Given the description of an element on the screen output the (x, y) to click on. 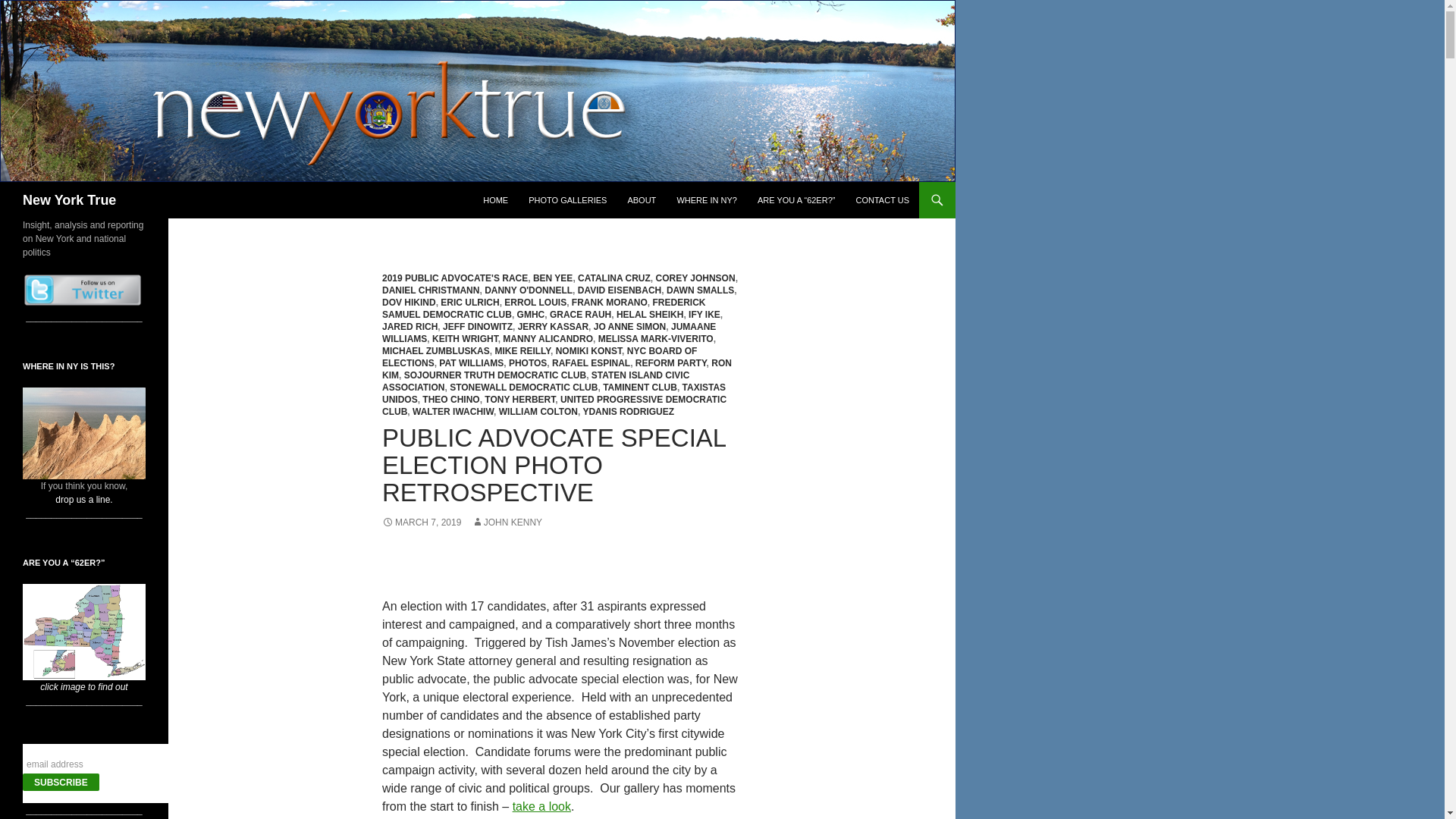
MIKE REILLY (522, 350)
FRANK MORANO (609, 302)
DAVID EISENBACH (619, 290)
2019 PUBLIC ADVOCATE'S RACE (454, 277)
PHOTO GALLERIES (567, 199)
DANNY O'DONNELL (528, 290)
NOMIKI KONST (588, 350)
IFY IKE (704, 314)
DANIEL CHRISTMANN (430, 290)
GRACE RAUH (580, 314)
JERRY KASSAR (553, 326)
ERROL LOUIS (534, 302)
DOV HIKIND (408, 302)
JO ANNE SIMON (630, 326)
